Given the description of an element on the screen output the (x, y) to click on. 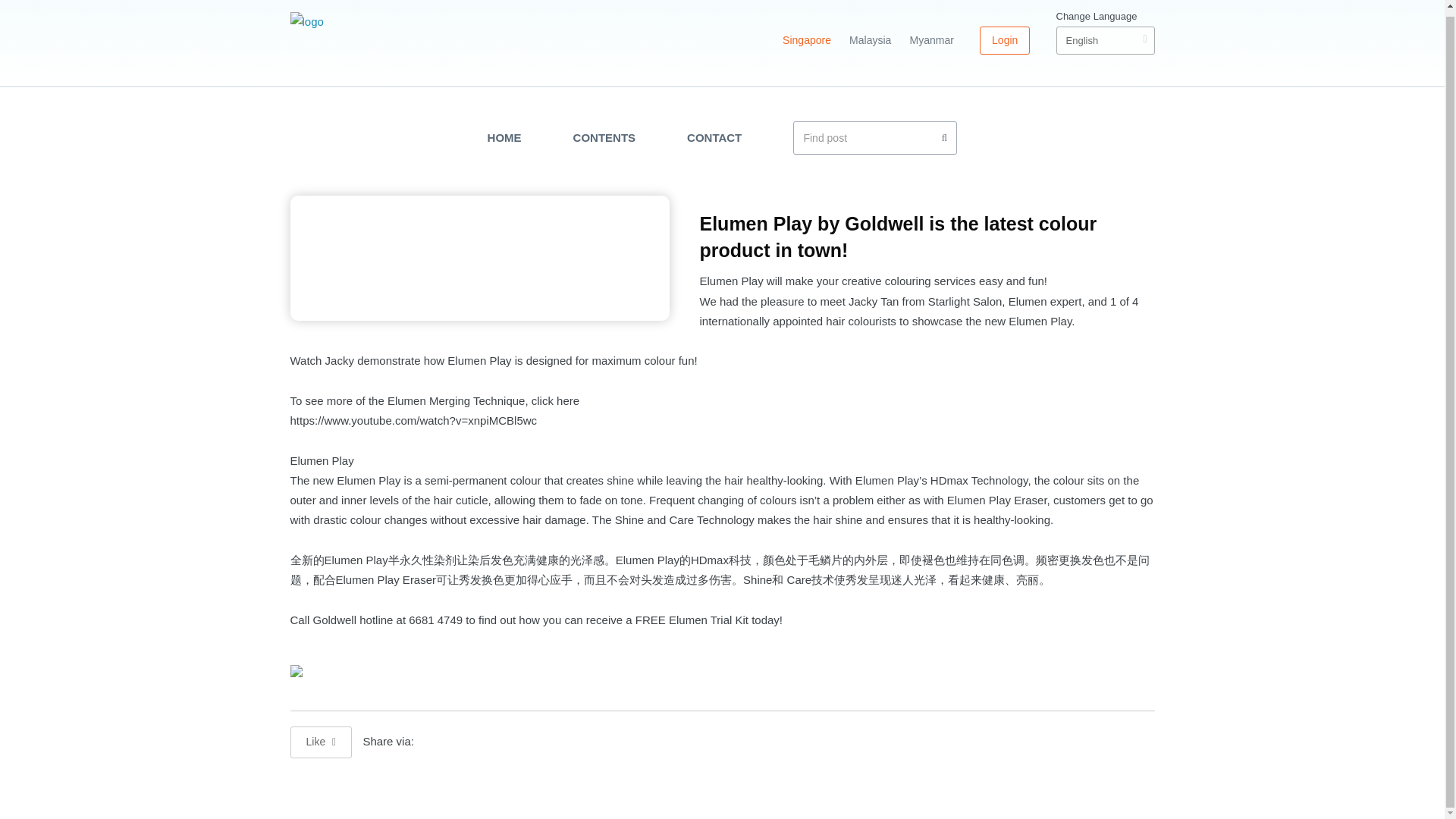
Login (1004, 40)
HOME (504, 137)
CONTACT (714, 137)
Like (320, 742)
CONTENTS (604, 137)
